Given the description of an element on the screen output the (x, y) to click on. 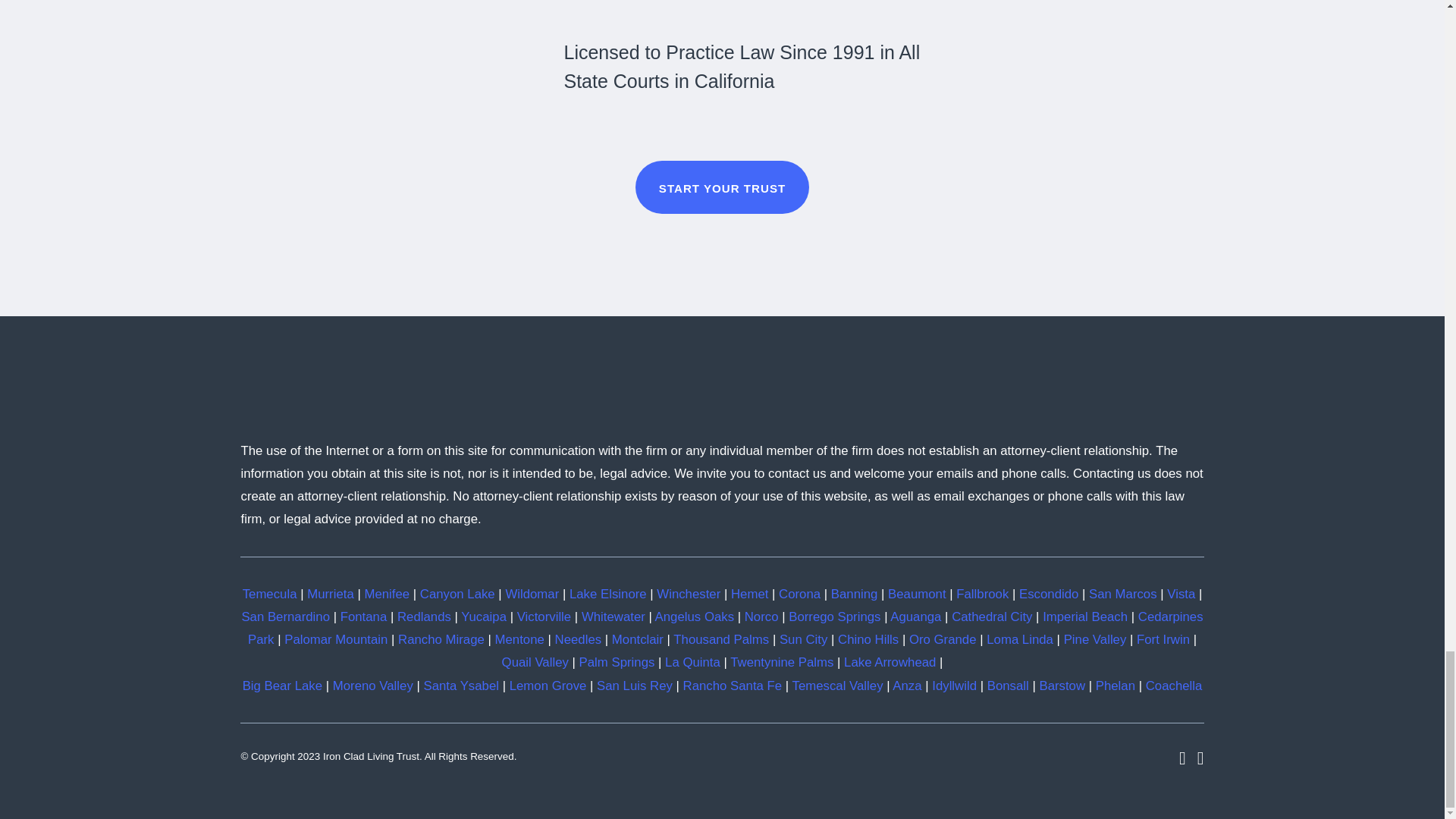
Banning (854, 594)
Winchester (688, 594)
Canyon Lake (457, 594)
Wildomar (532, 594)
Lake Elsinore (607, 594)
Murrieta (330, 594)
Temecula (270, 594)
Corona (799, 594)
Hemet (749, 594)
Menifee (386, 594)
START YOUR TRUST (721, 186)
